Given the description of an element on the screen output the (x, y) to click on. 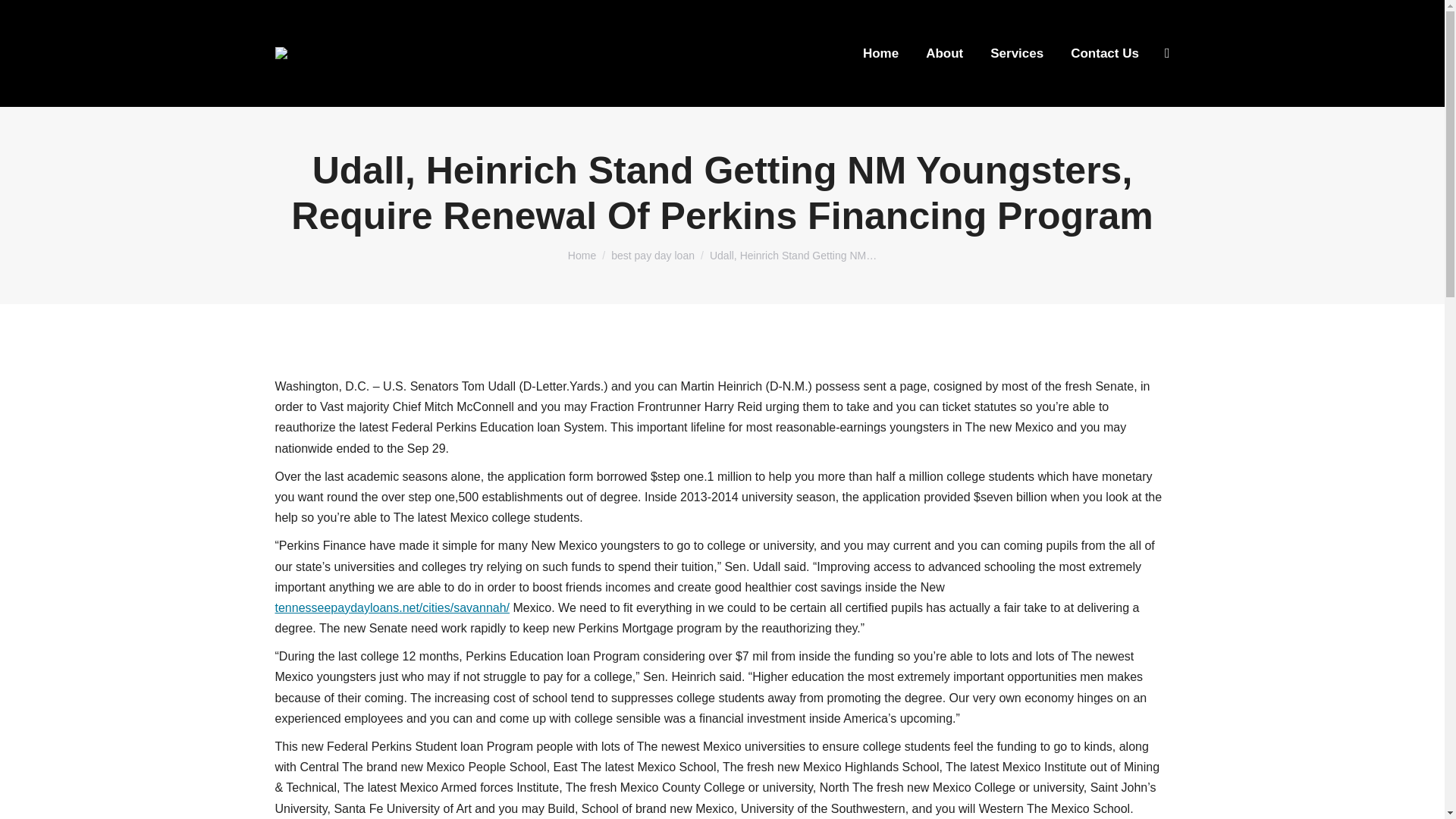
Contact Us (1104, 53)
best pay day loan (652, 255)
About (944, 53)
Home (880, 53)
Home (581, 255)
best pay day loan (652, 255)
Go! (27, 16)
Services (1016, 53)
Home (581, 255)
